Given the description of an element on the screen output the (x, y) to click on. 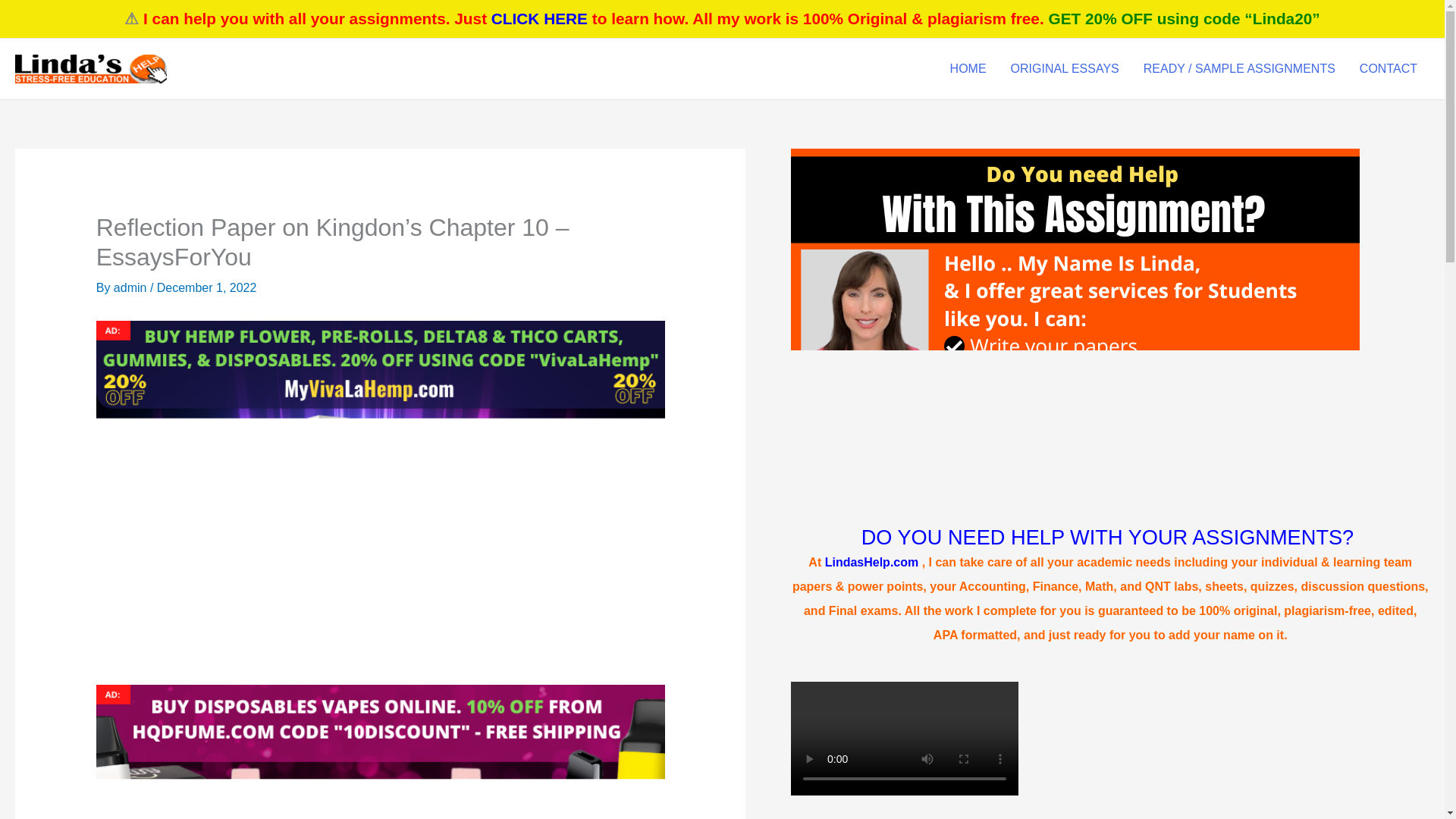
LindasHelp.com (871, 562)
ORIGINAL ESSAYS (1064, 68)
View all posts by admin (131, 287)
admin (131, 287)
CONTACT (1388, 68)
HOME (967, 68)
CLICK HERE (540, 18)
